Given the description of an element on the screen output the (x, y) to click on. 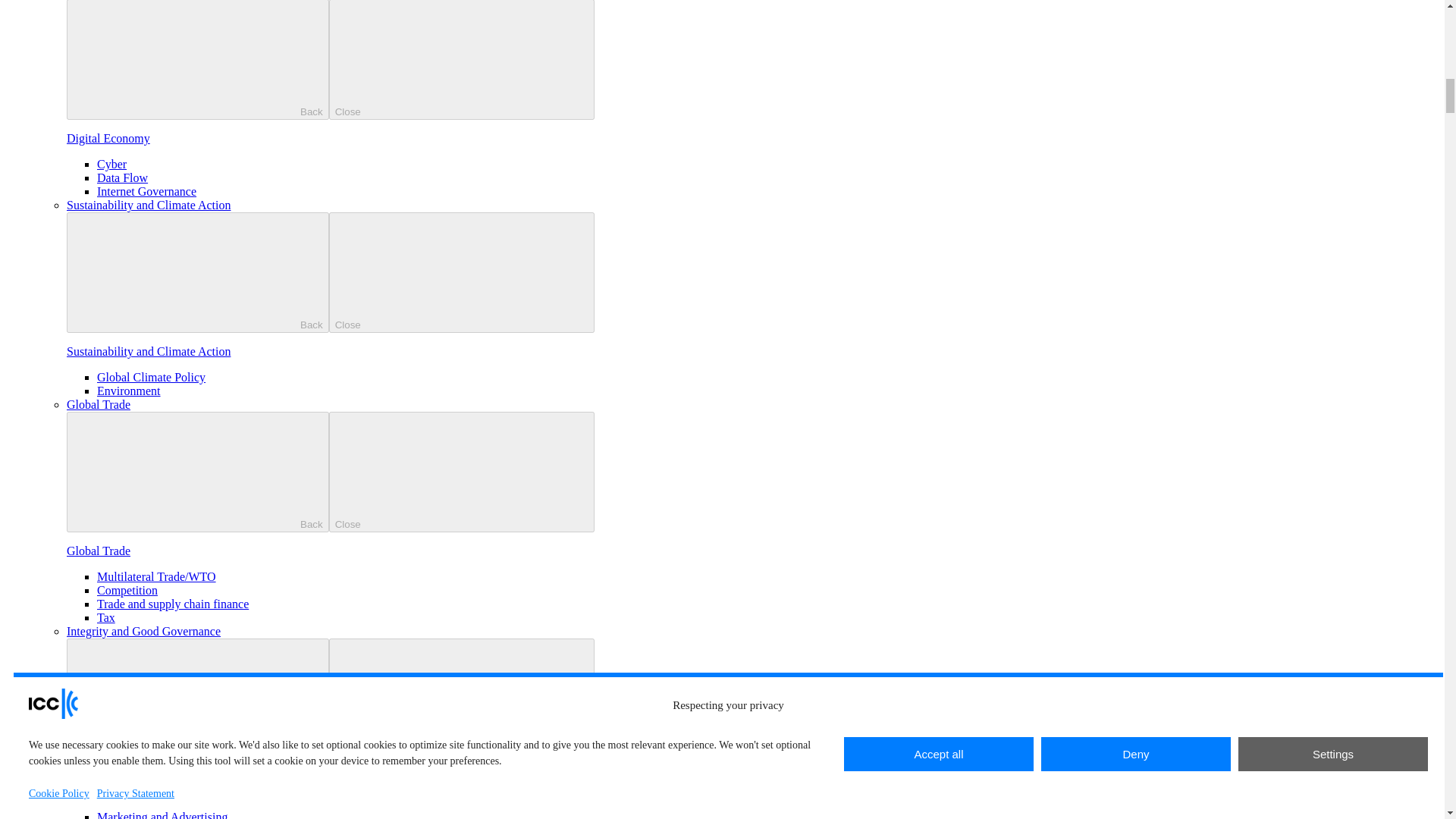
Cyber (111, 164)
Back (197, 272)
Sustainability and Climate Action (148, 350)
Back (197, 59)
Global Climate Policy (151, 377)
Close (461, 272)
Sustainability and Climate Action (148, 205)
Data Flow (122, 177)
Global Trade (98, 404)
Internet Governance (146, 191)
Environment (128, 390)
Digital Economy (107, 137)
Close (461, 59)
